Given the description of an element on the screen output the (x, y) to click on. 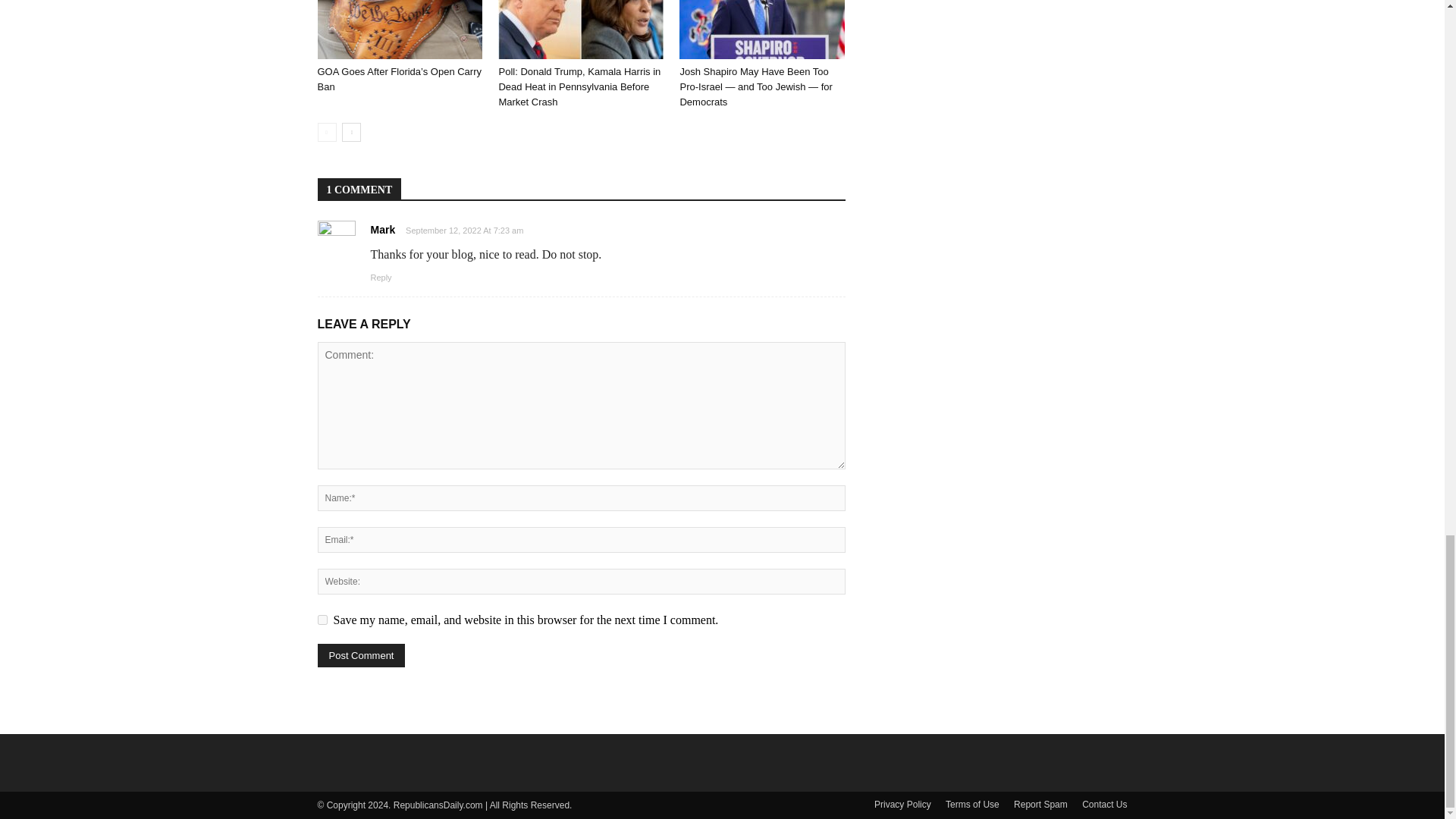
yes (321, 619)
Post Comment (360, 655)
